Given the description of an element on the screen output the (x, y) to click on. 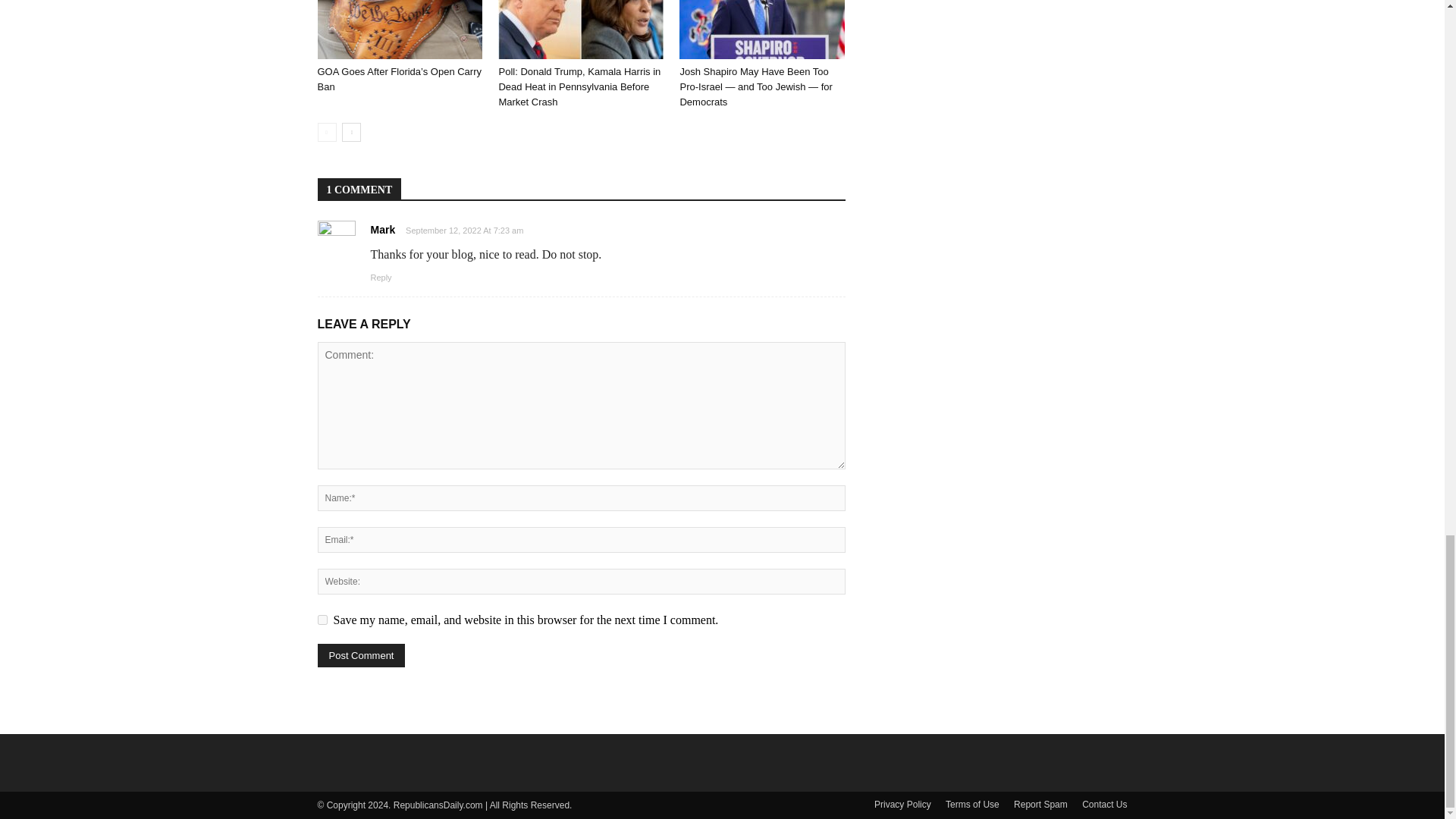
yes (321, 619)
Post Comment (360, 655)
